Given the description of an element on the screen output the (x, y) to click on. 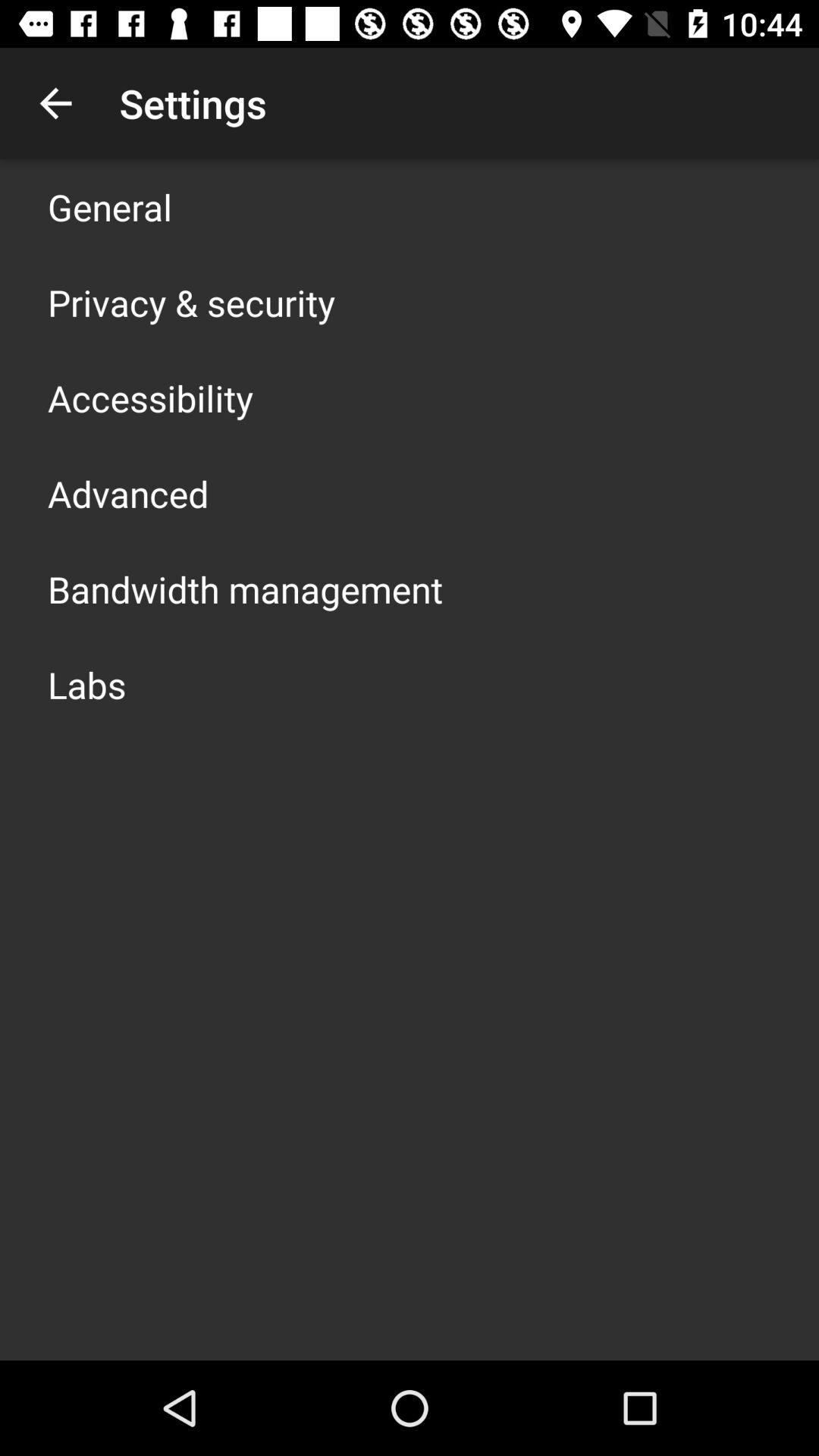
click the icon above accessibility icon (190, 302)
